Given the description of an element on the screen output the (x, y) to click on. 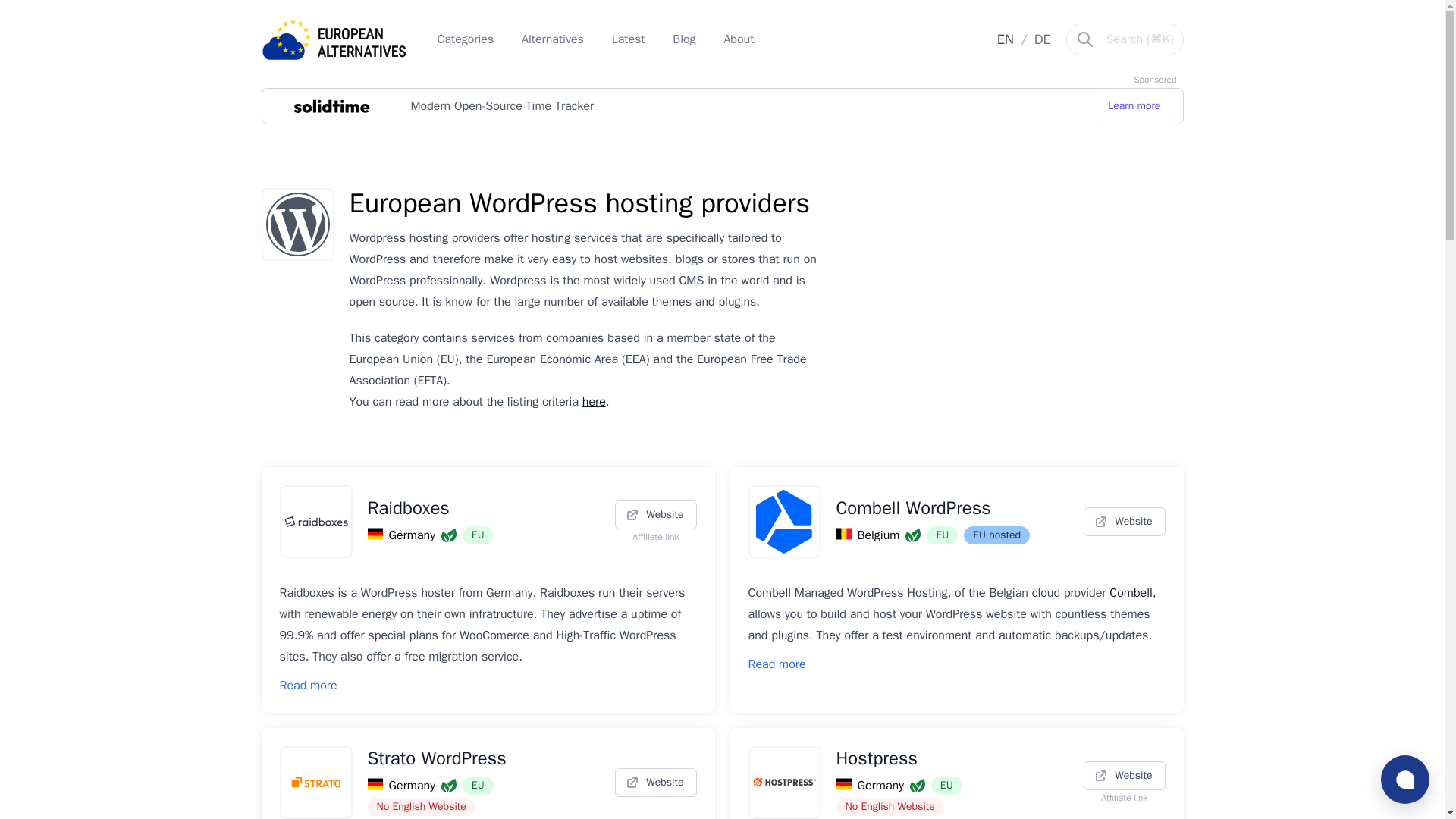
Combell (1131, 592)
DE (1042, 39)
Latest (630, 38)
Strato WordPress (482, 758)
Read more (776, 663)
European Union (478, 785)
Website (654, 782)
Open chat window (1404, 779)
Website (1123, 775)
Combell WordPress (951, 508)
